Given the description of an element on the screen output the (x, y) to click on. 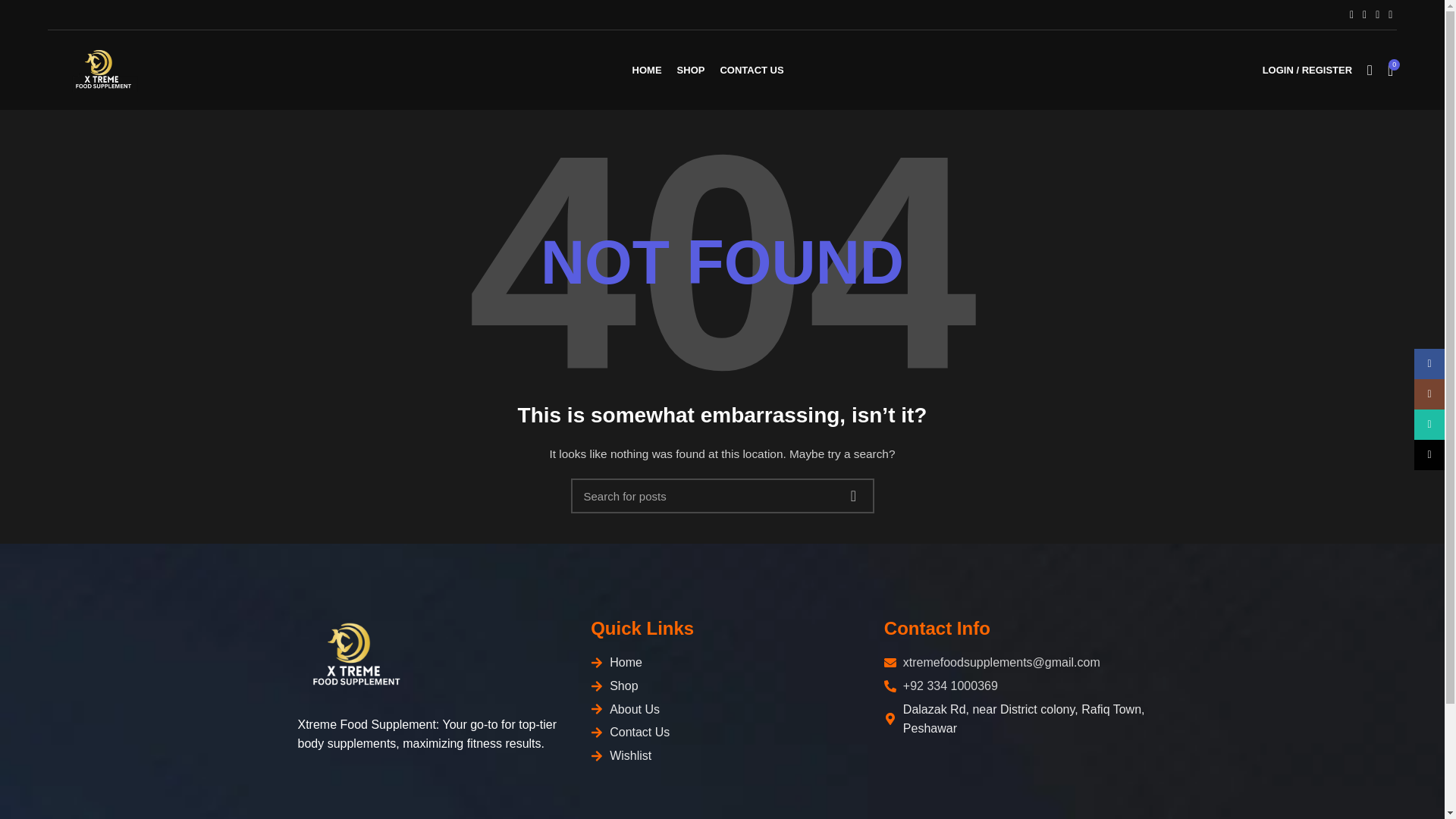
HOME (646, 69)
Dalazak Rd, near District colony, Rafiq Town, Peshawar (1015, 719)
About Us (722, 709)
Wishlist (722, 755)
SEARCH (853, 495)
Shop (722, 686)
Search for posts (721, 495)
Contact Us (722, 732)
CONTACT US (750, 69)
Home (722, 662)
My account (1307, 69)
SHOP (691, 69)
Peshawar, Pakistan (1015, 786)
